Given the description of an element on the screen output the (x, y) to click on. 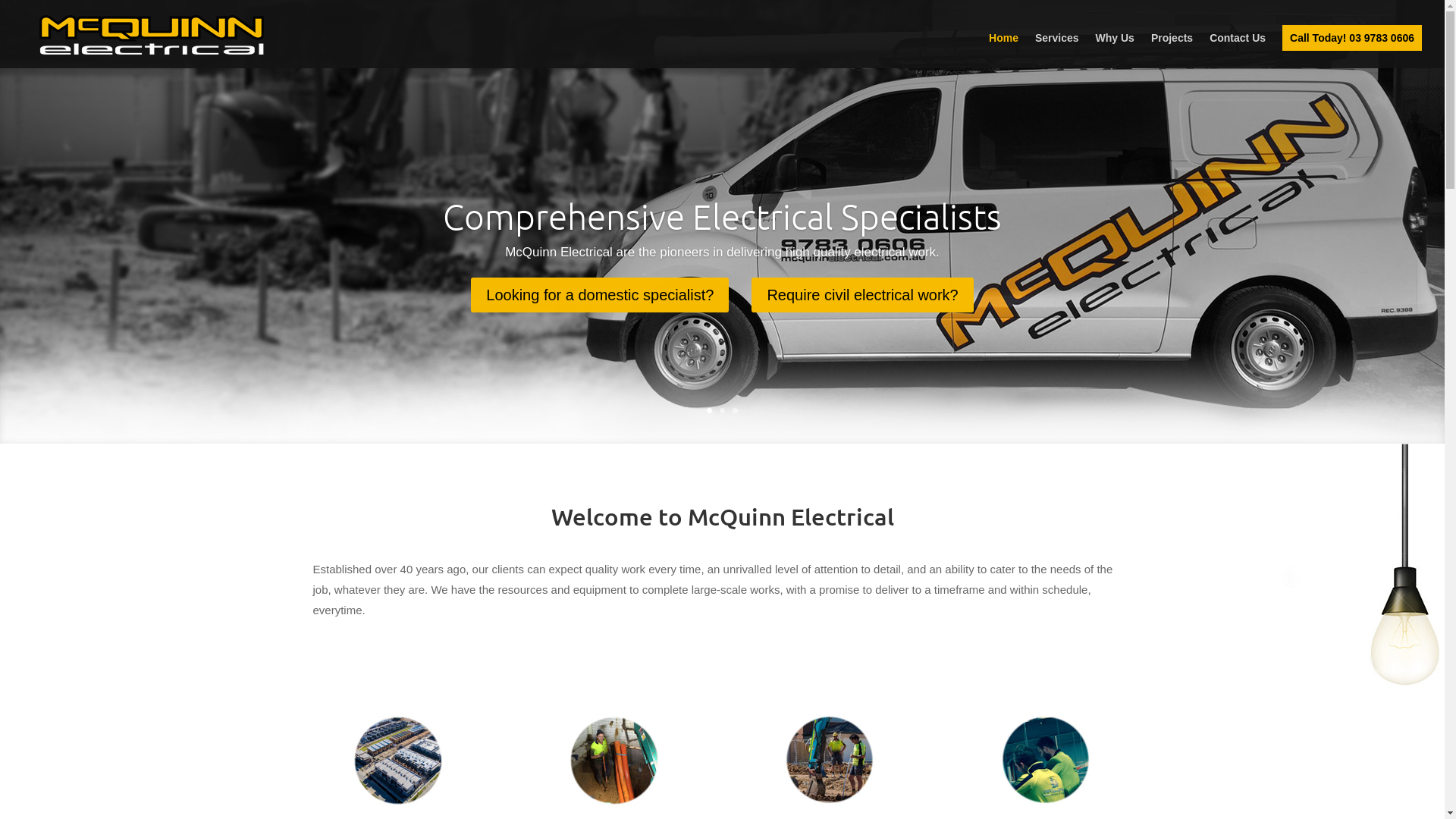
Projects Element type: text (1171, 50)
Looking for a domestic specialist? Element type: text (599, 294)
Call Today! 03 9783 0606 Element type: text (1351, 37)
3 Element type: text (734, 410)
Comprehensive Electrical Specialists Element type: text (721, 216)
1 Element type: text (709, 410)
Contact Us Element type: text (1237, 50)
Require civil electrical work? Element type: text (861, 294)
Why Us Element type: text (1114, 50)
Services Element type: text (1057, 50)
2 Element type: text (721, 410)
Home Element type: text (1003, 50)
